Given the description of an element on the screen output the (x, y) to click on. 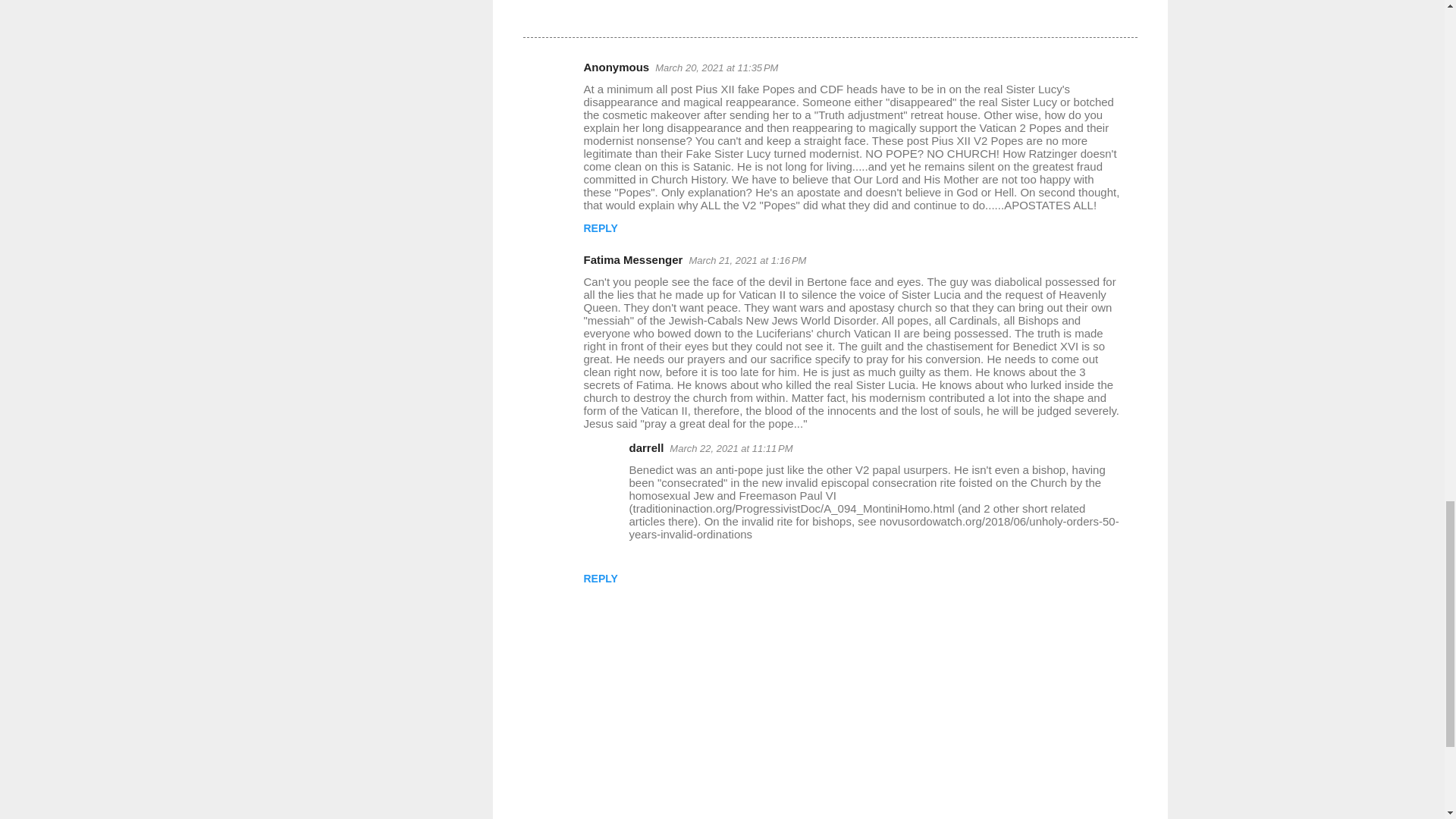
REPLY (600, 227)
REPLY (600, 578)
Fatima Messenger (632, 259)
darrell (645, 447)
